Given the description of an element on the screen output the (x, y) to click on. 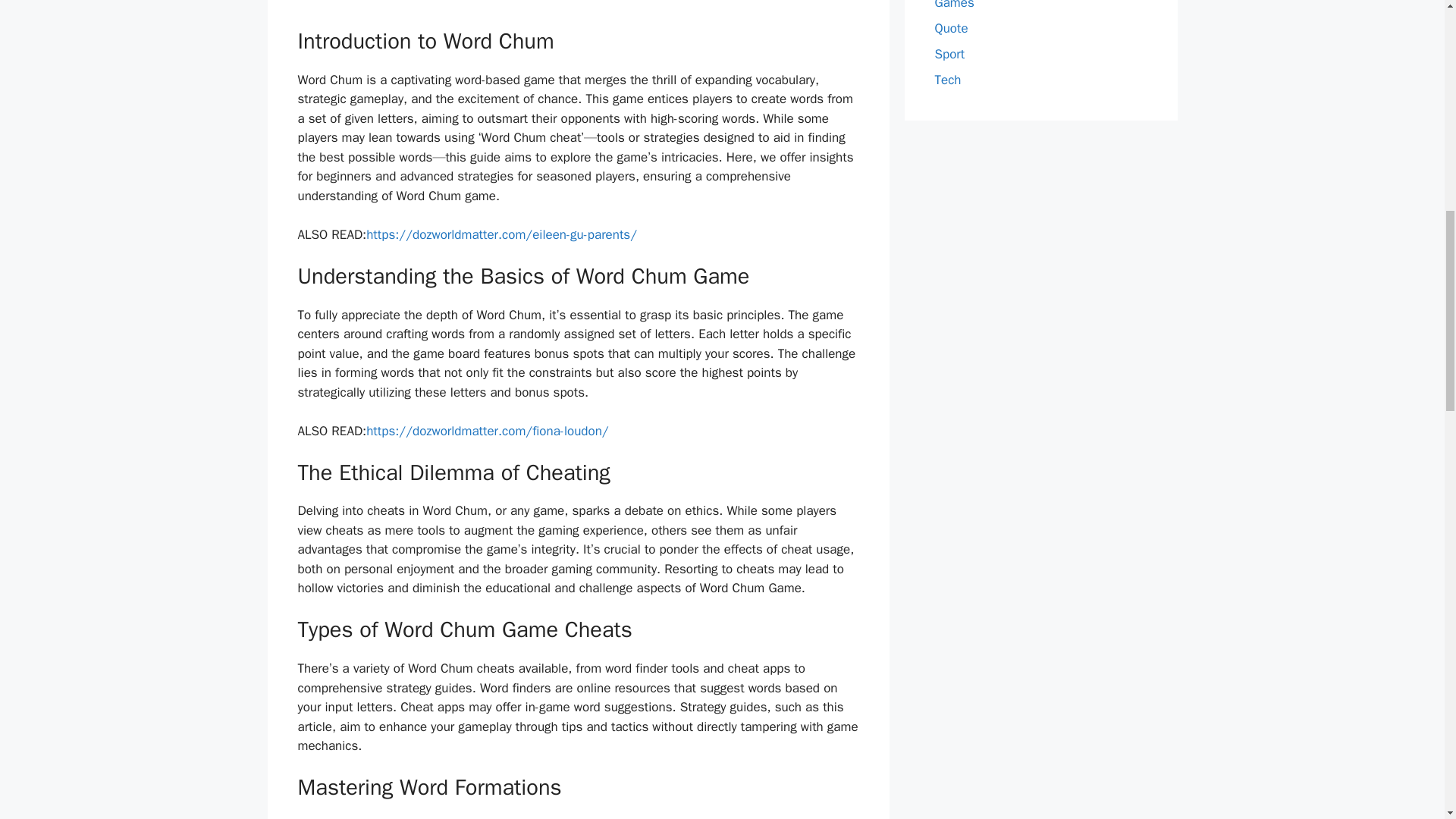
Sport (948, 53)
Tech (947, 79)
Games (954, 5)
Quote (951, 28)
